Given the description of an element on the screen output the (x, y) to click on. 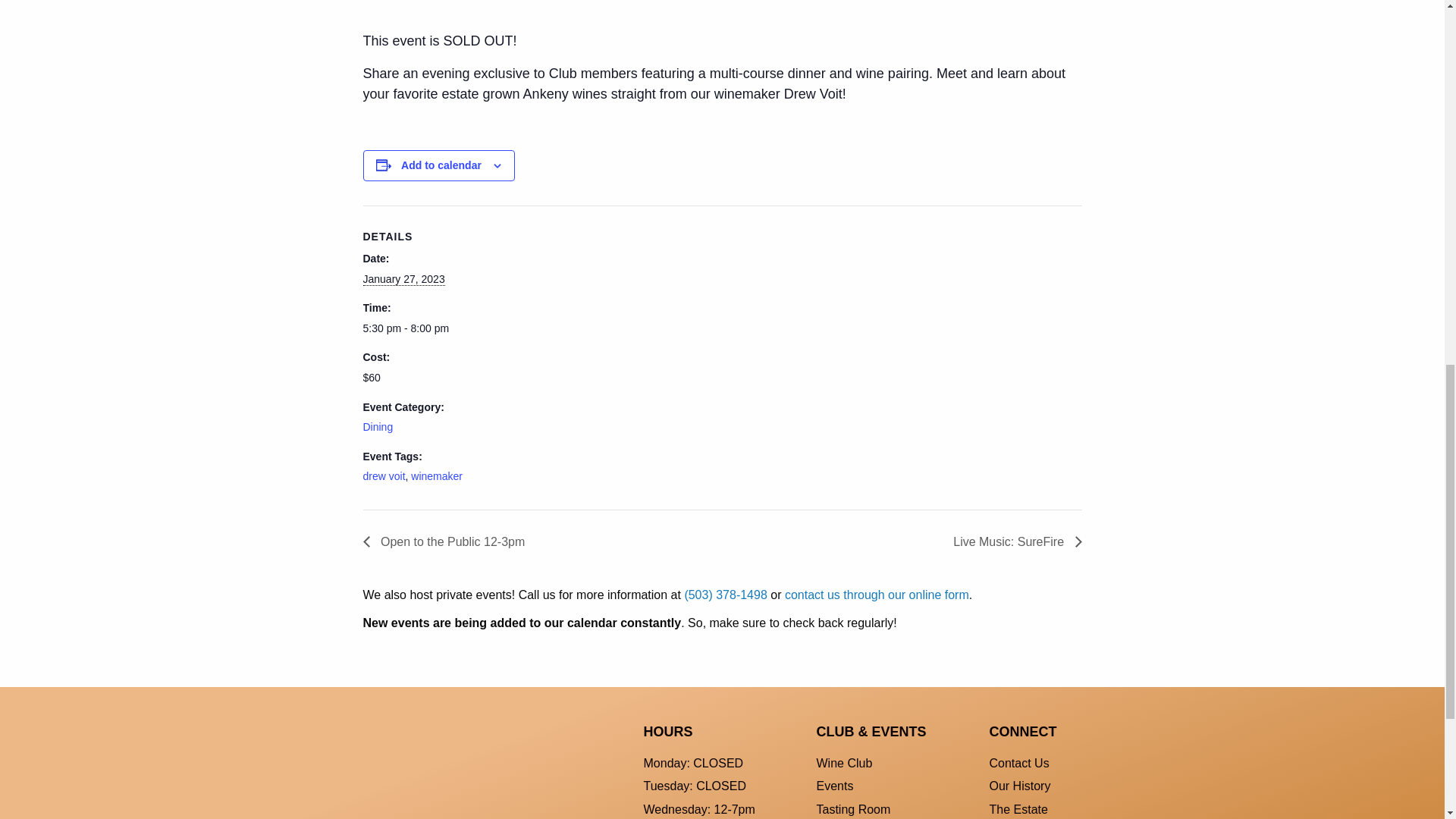
2023-01-27 (403, 278)
2023-01-27 (425, 328)
